Given the description of an element on the screen output the (x, y) to click on. 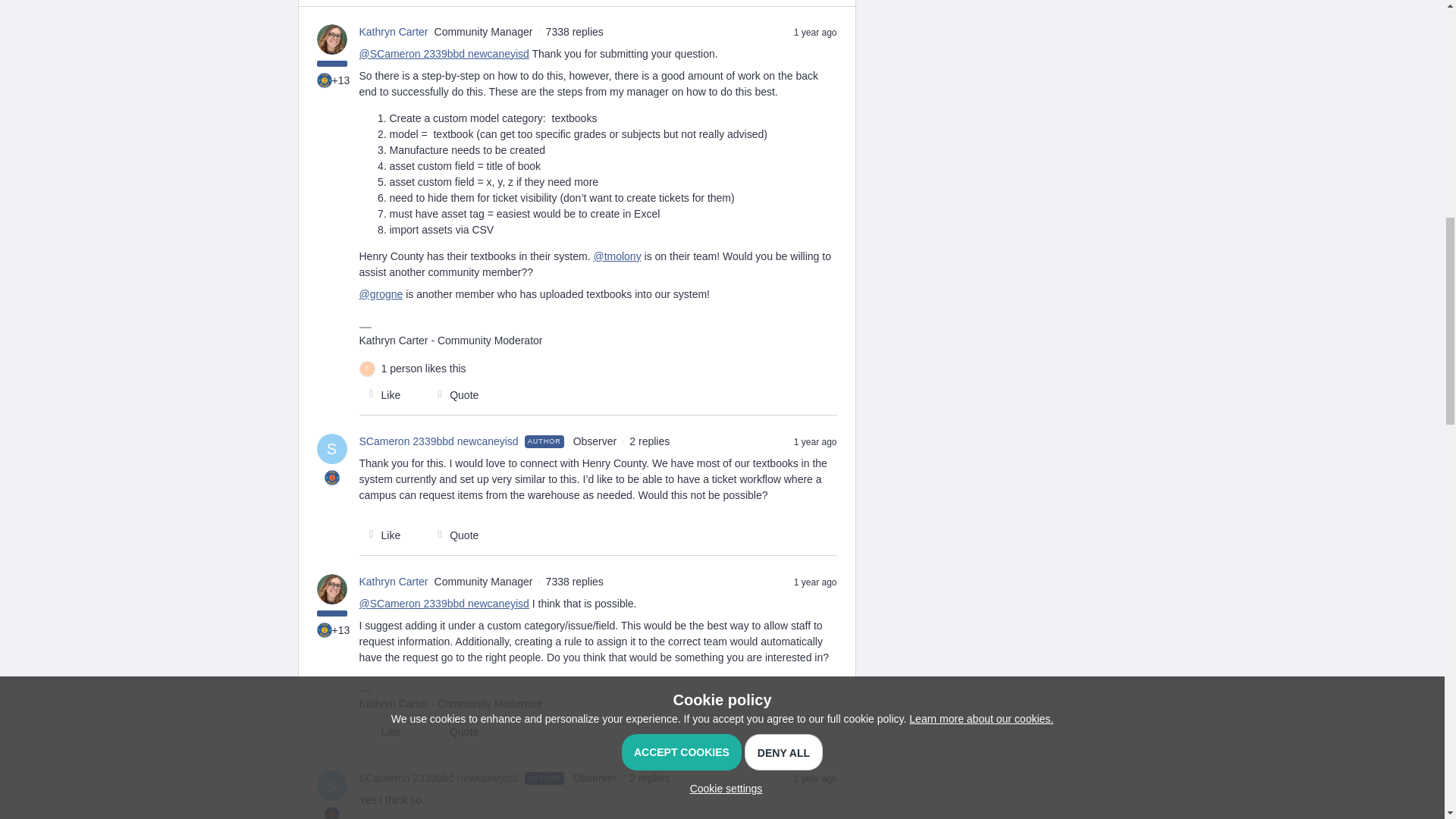
2 Year Member (324, 79)
2 Year Member (324, 630)
1 Year Member (331, 477)
Kathryn Carter (393, 32)
SCameron 2339bbd newcaneyisd (438, 441)
